Given the description of an element on the screen output the (x, y) to click on. 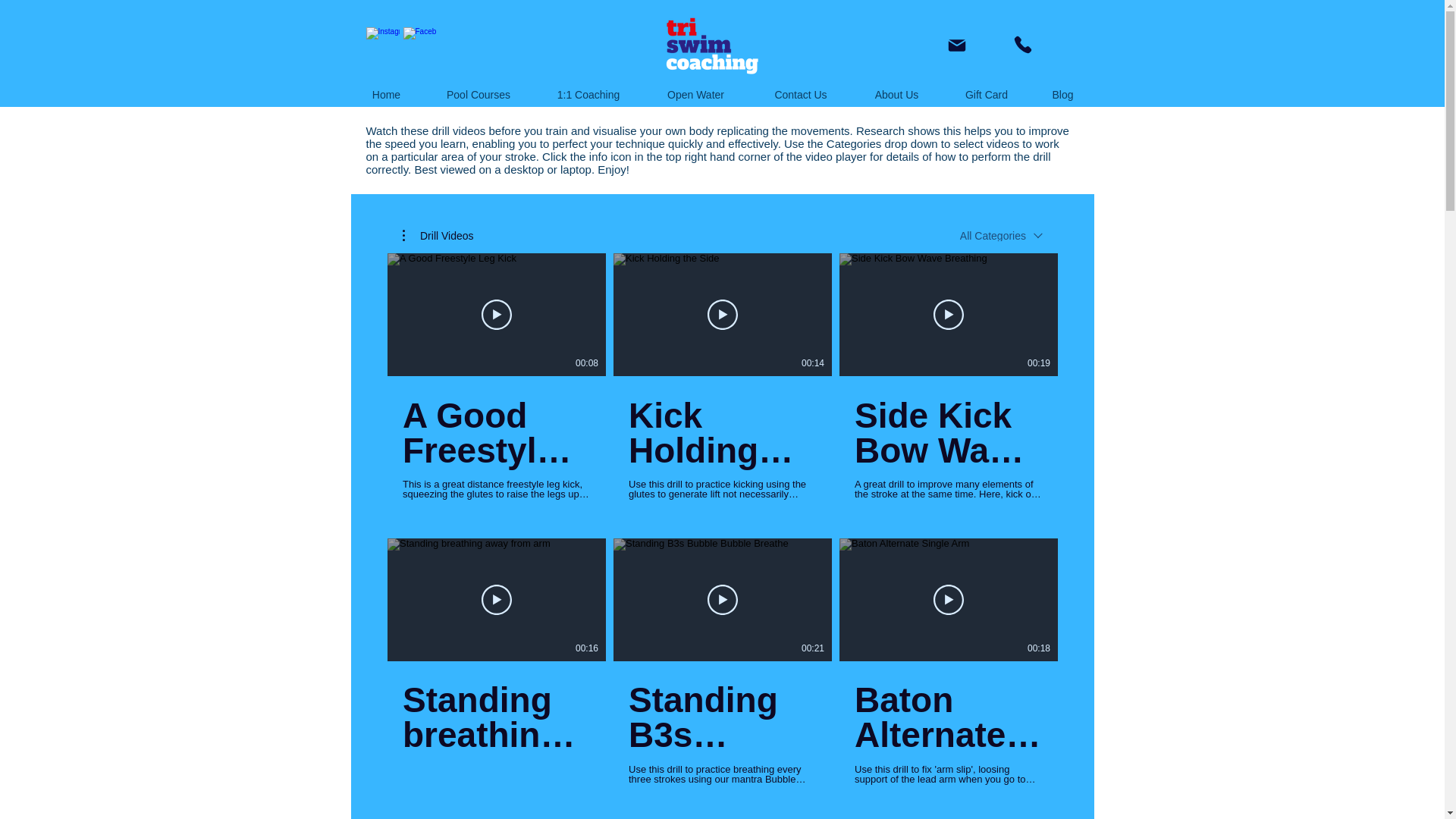
Open Water (695, 94)
About Us (896, 94)
Gift Card (987, 94)
1:1 Coaching (588, 94)
Standing breathing away from arm (495, 717)
Contact Us (800, 94)
Home (386, 94)
